Given the description of an element on the screen output the (x, y) to click on. 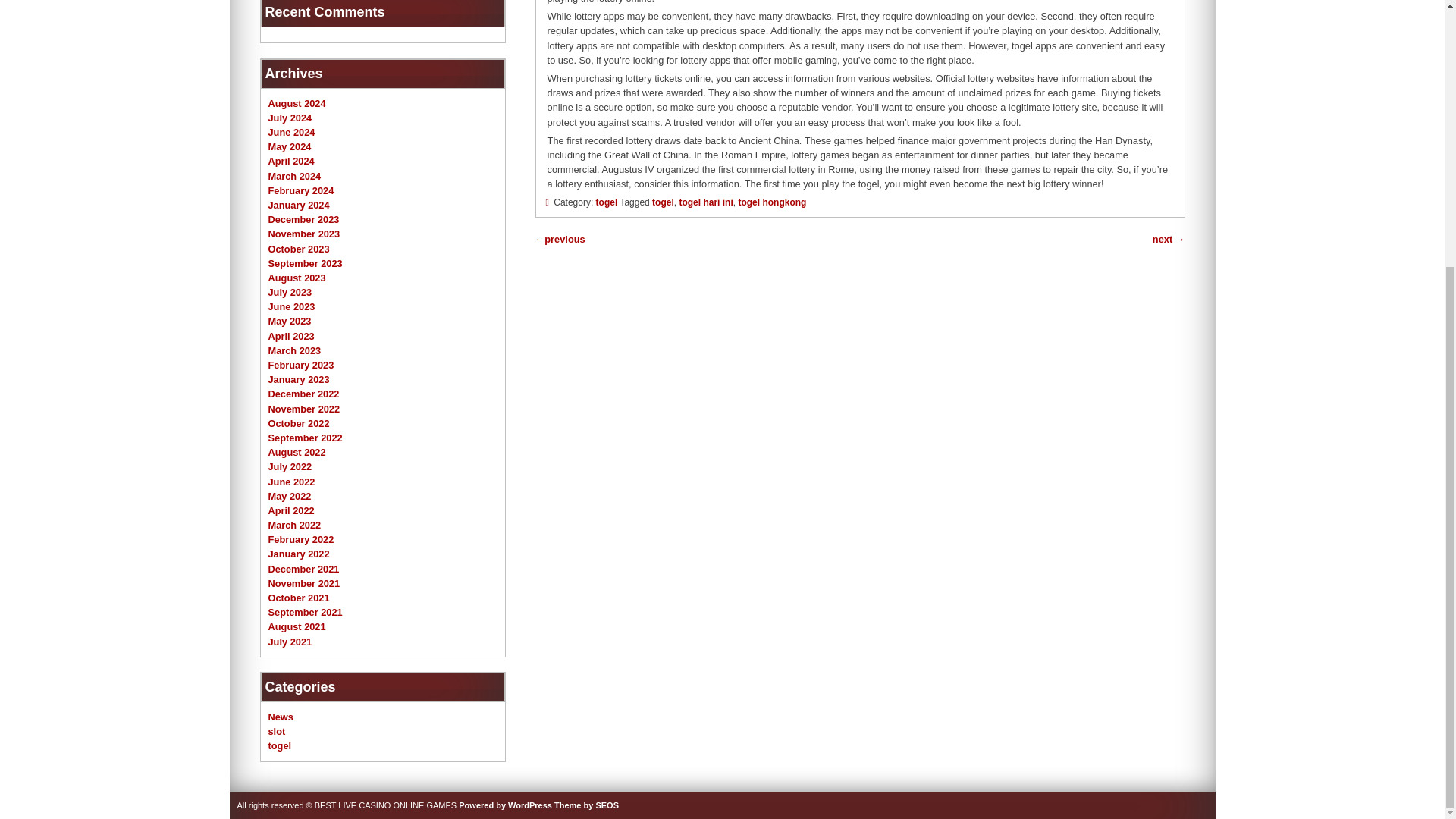
togel hari ini (705, 202)
June 2023 (291, 306)
May 2023 (289, 320)
October 2023 (298, 247)
February 2023 (300, 365)
April 2023 (290, 336)
March 2023 (294, 350)
July 2024 (290, 117)
April 2024 (290, 161)
togel hongkong (772, 202)
March 2024 (294, 175)
May 2024 (289, 146)
November 2023 (303, 233)
August 2023 (296, 277)
September 2023 (304, 263)
